Given the description of an element on the screen output the (x, y) to click on. 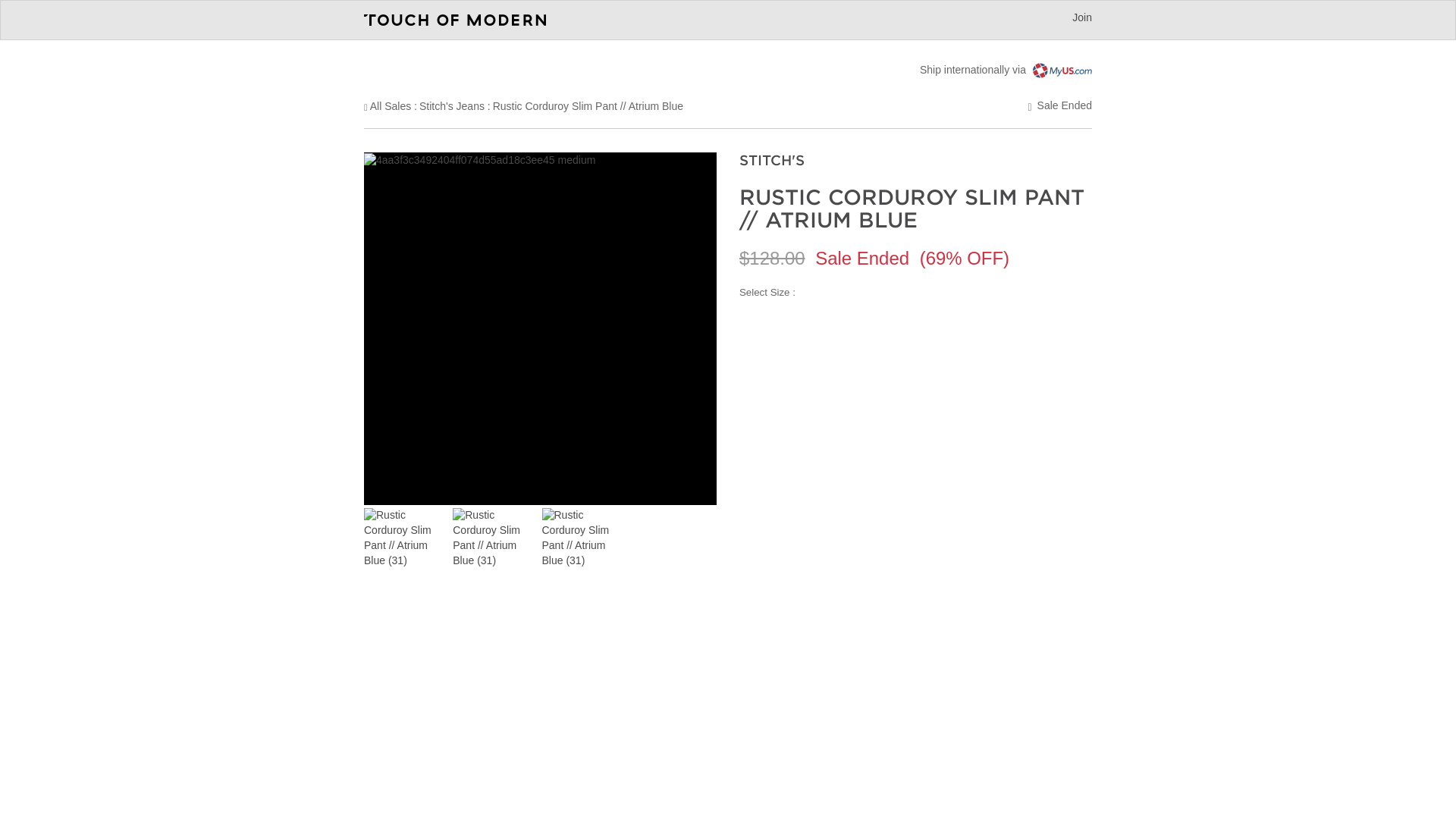
Join (1081, 17)
All Sales (389, 105)
All Sales (389, 105)
Stitch's Jeans (451, 105)
Ship internationally via (1006, 69)
Stitch's Jeans (451, 105)
